Given the description of an element on the screen output the (x, y) to click on. 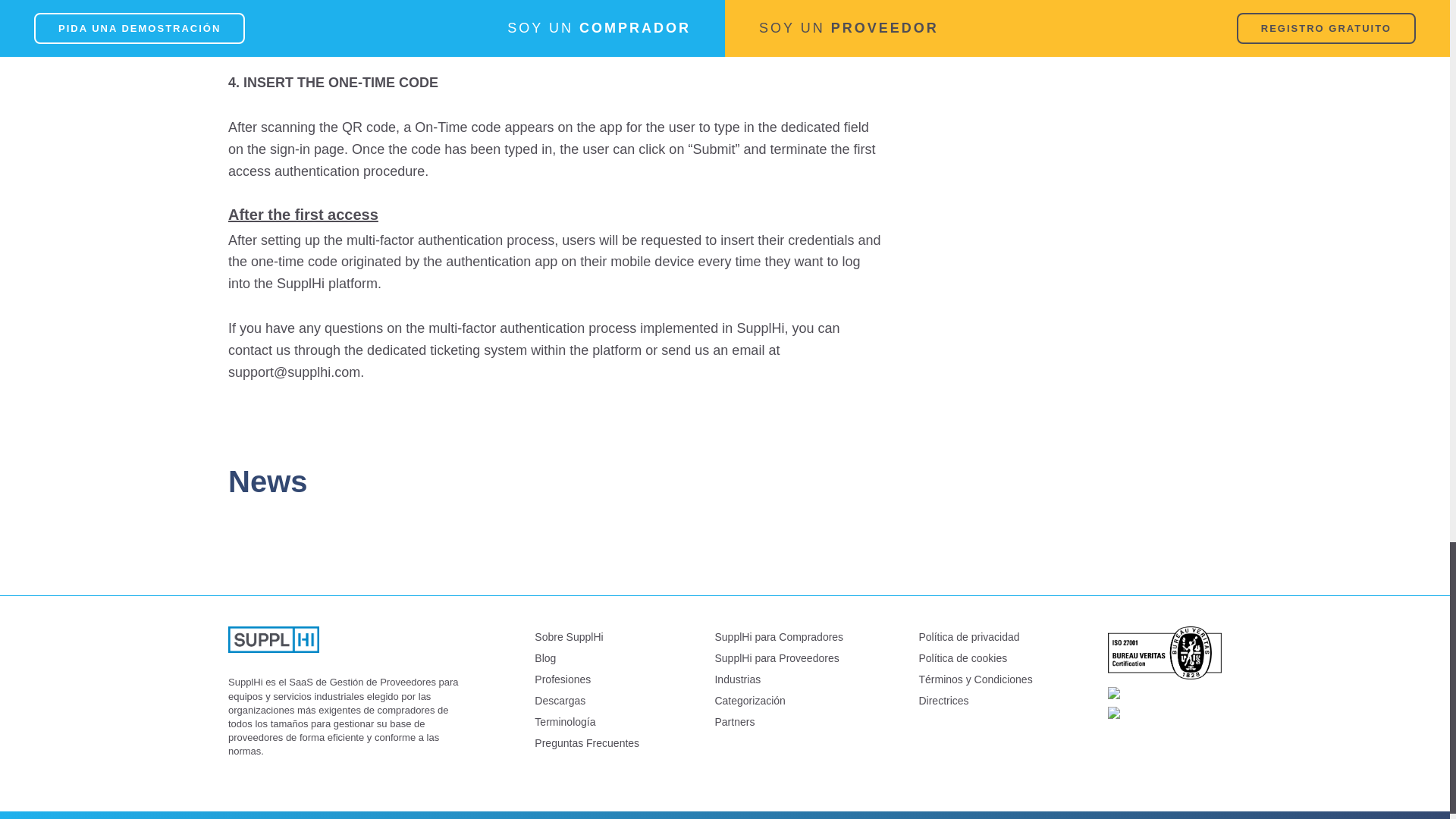
SupplHi para Compradores (778, 636)
Profesiones (586, 679)
SupplHi para Proveedores (778, 658)
Industrias (778, 679)
Sobre SupplHi (586, 636)
Blog (586, 658)
Preguntas Frecuentes (586, 742)
Descargas (586, 700)
